Given the description of an element on the screen output the (x, y) to click on. 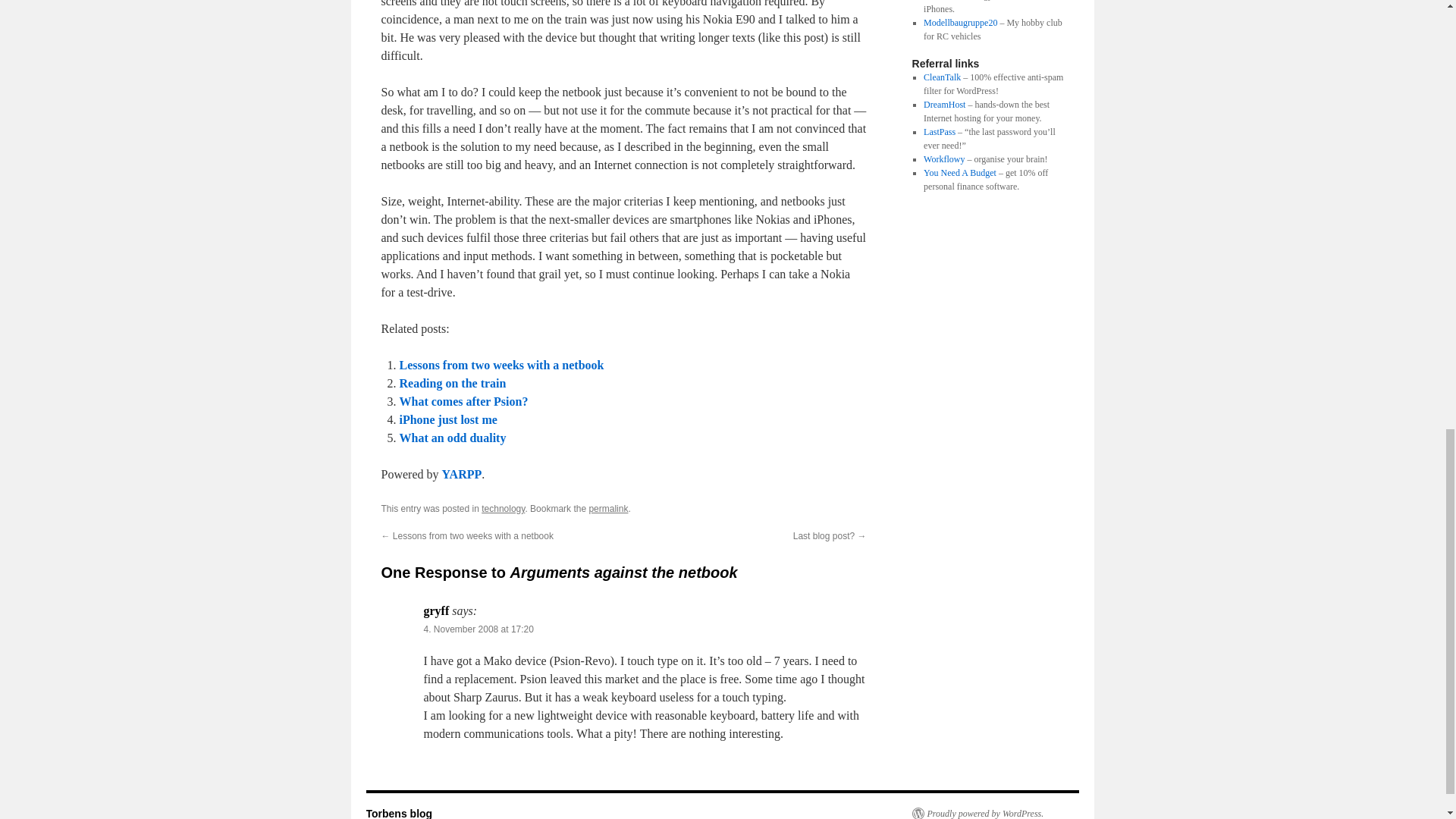
Lessons from two weeks with a netbook (501, 364)
Reading on the train (451, 382)
What an odd duality (451, 437)
iPhone just lost me (447, 419)
Lessons from two weeks with a netbook (501, 364)
YARPP (461, 473)
iPhone just lost me (447, 419)
technology (502, 508)
permalink (607, 508)
Reading on the train (451, 382)
